Given the description of an element on the screen output the (x, y) to click on. 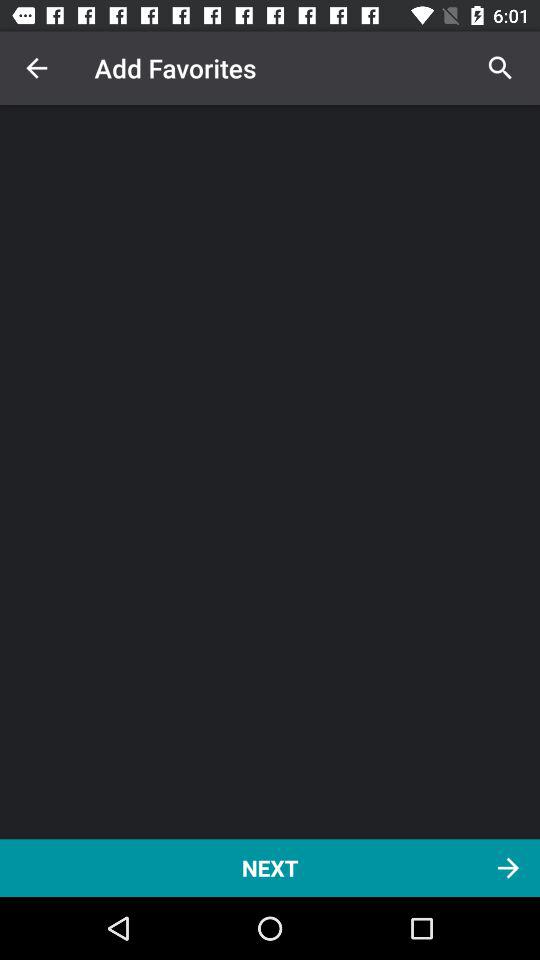
click icon next to add favorites icon (36, 68)
